Given the description of an element on the screen output the (x, y) to click on. 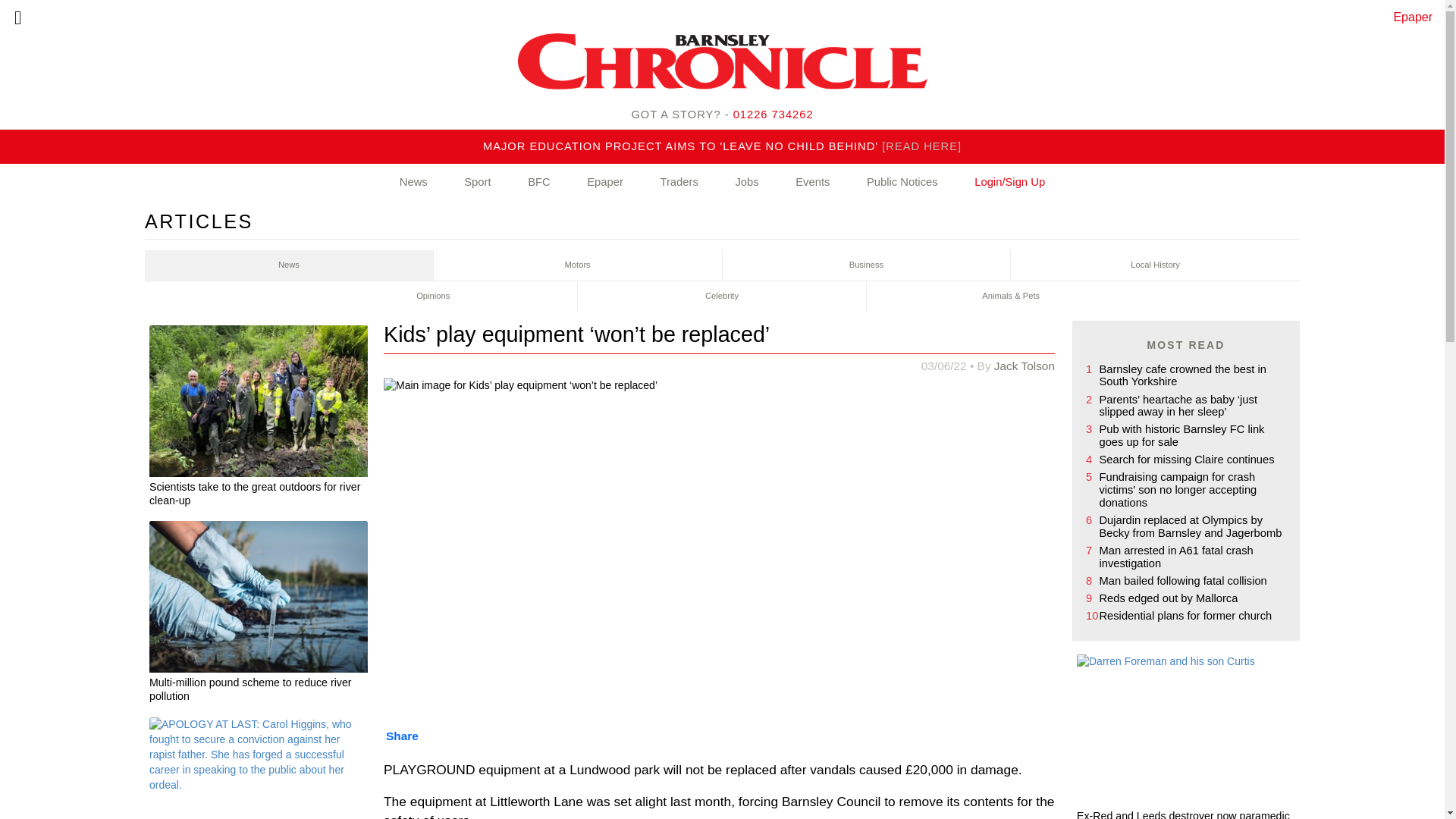
News (288, 265)
Business (866, 265)
Sport (477, 182)
News (413, 182)
01226 734262 (773, 114)
Local History (1155, 265)
Epaper (1412, 16)
BFC (539, 182)
Public Notices (902, 182)
Events (812, 182)
Epaper (604, 182)
Traders (678, 182)
Jobs (745, 182)
Opinions (433, 296)
Motors (577, 265)
